Given the description of an element on the screen output the (x, y) to click on. 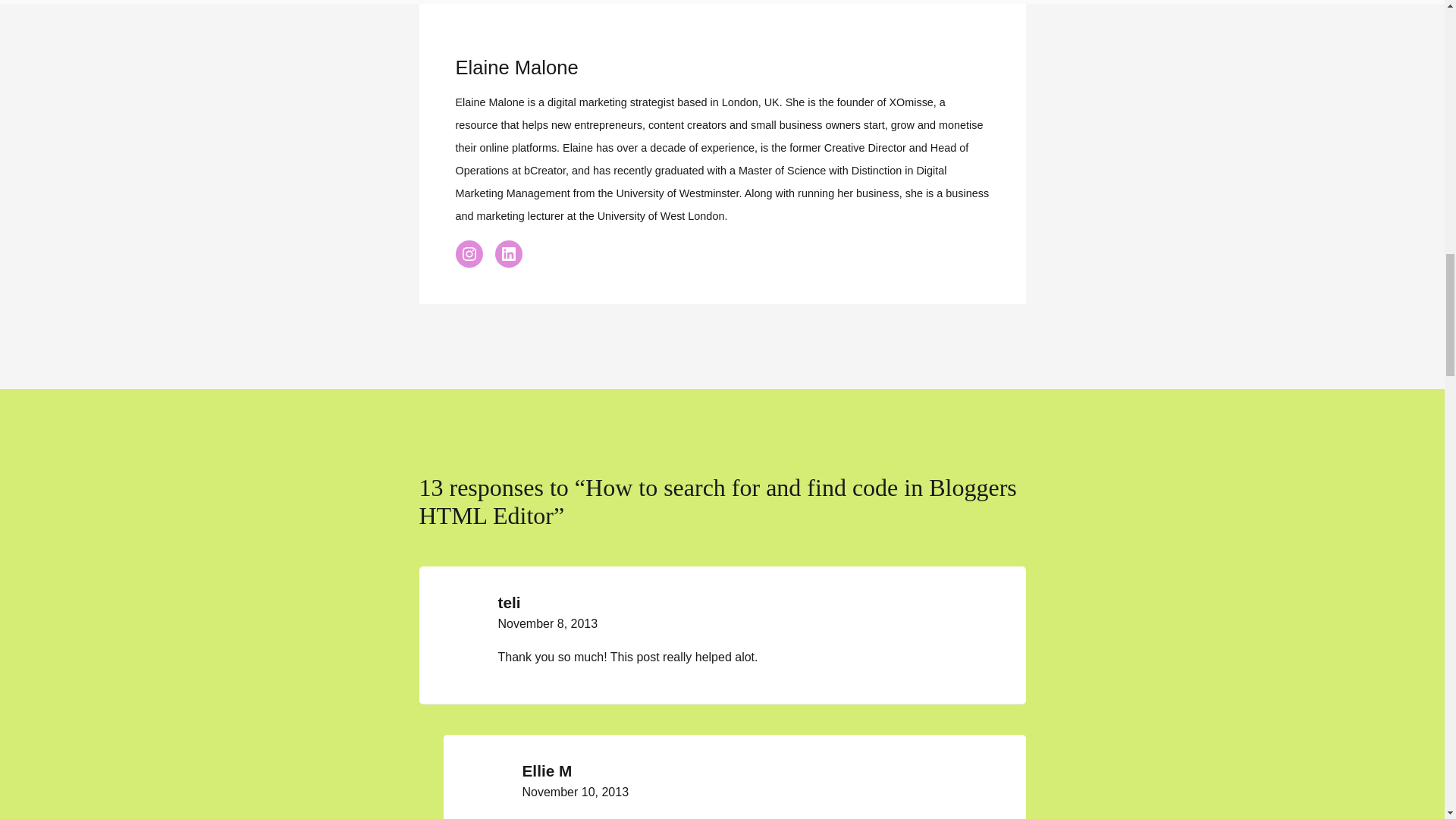
Instagram (467, 252)
teli (508, 601)
Ellie M (546, 770)
LinkedIn (508, 252)
November 8, 2013 (546, 623)
November 10, 2013 (574, 791)
